Given the description of an element on the screen output the (x, y) to click on. 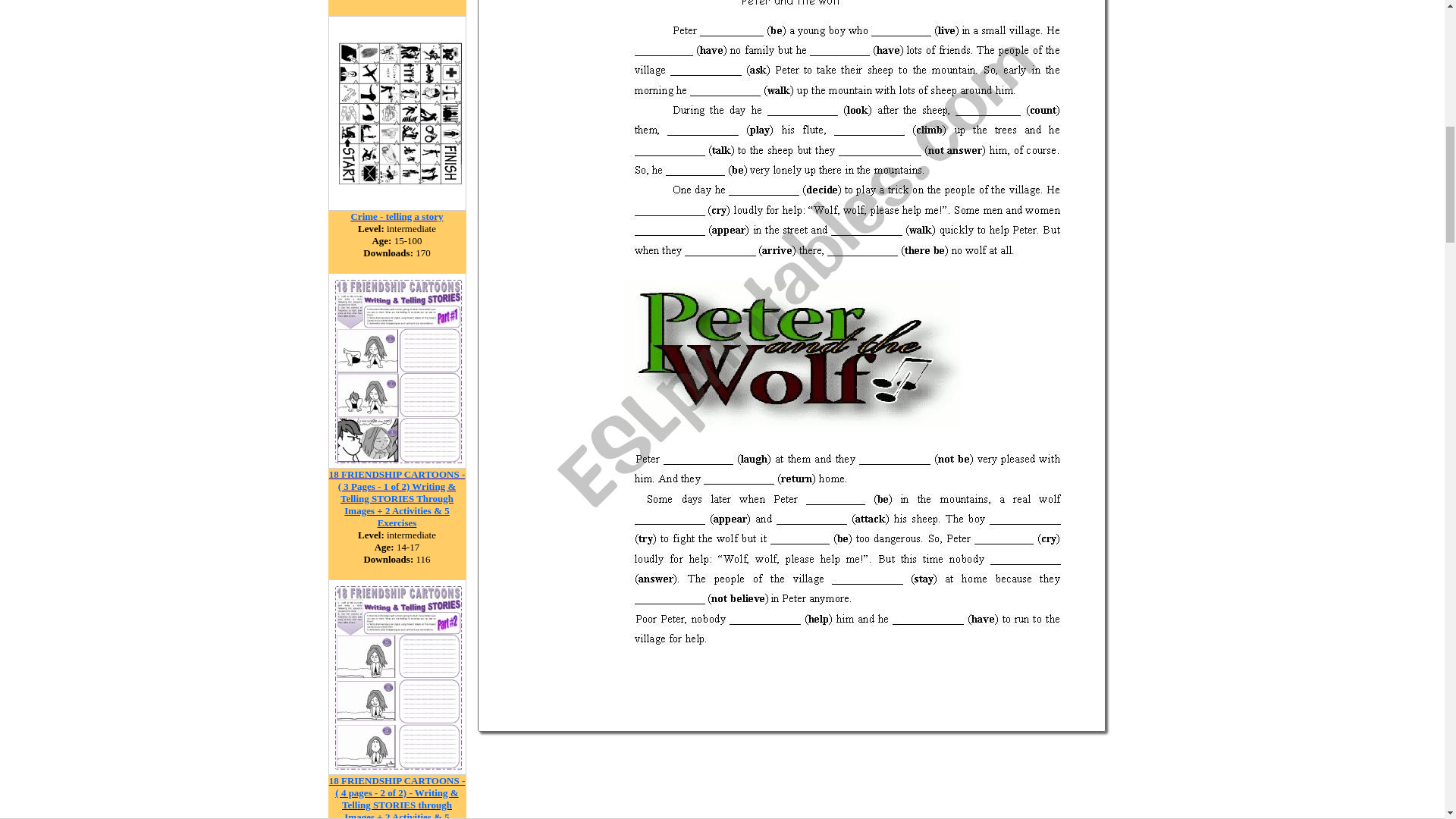
Crime - telling a story (396, 215)
Crime - telling a story (396, 215)
Crime - telling a story (396, 205)
